Given the description of an element on the screen output the (x, y) to click on. 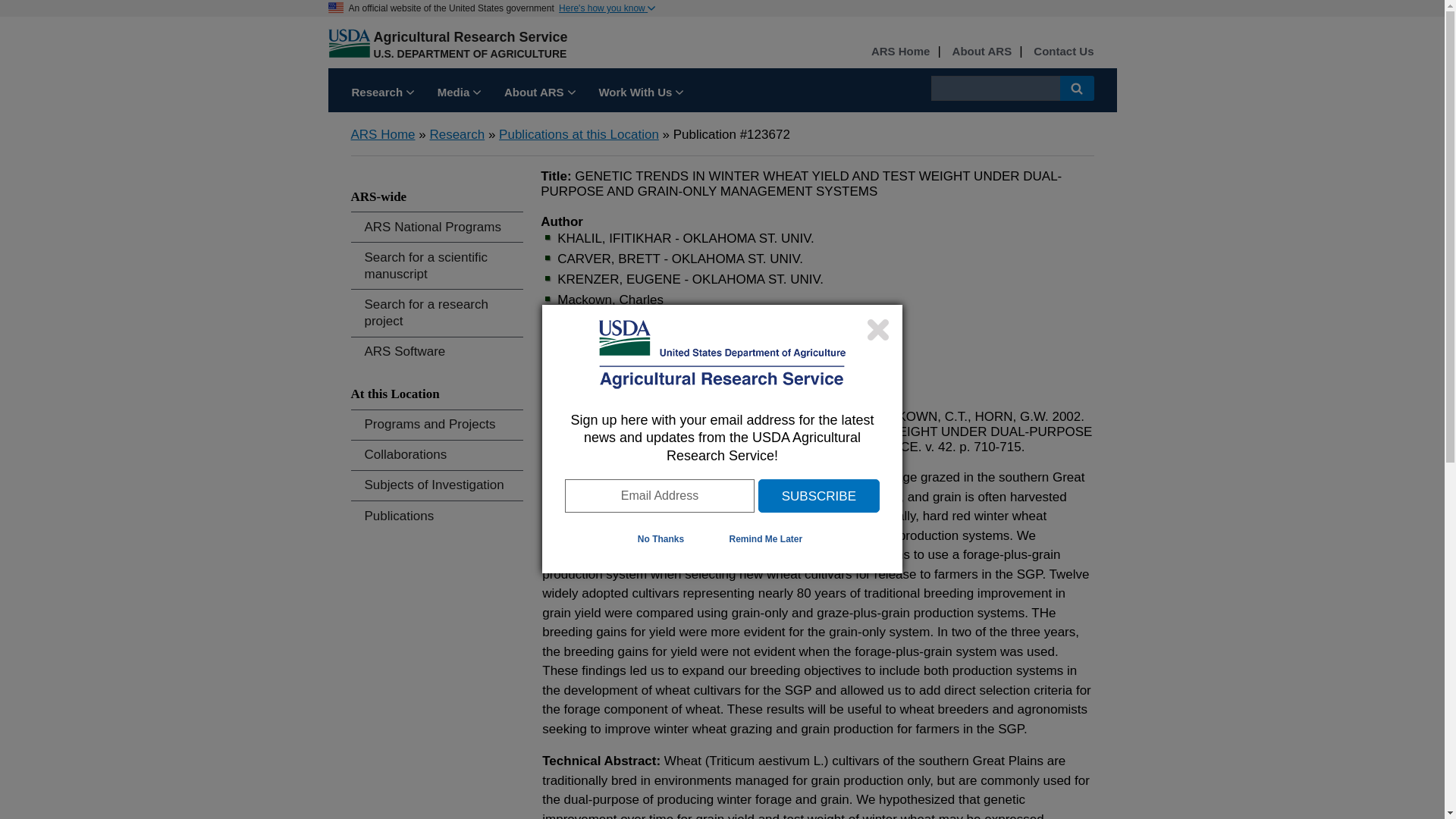
Agricultural Research Service Home (469, 37)
search (995, 88)
Media (459, 94)
ARS Home (900, 51)
Email Address (659, 495)
Work With Us (640, 94)
About ARS (539, 94)
Contact Us (1063, 51)
Agricultural Research Service (469, 37)
Close subscription dialog (877, 328)
About ARS (981, 51)
Subscribe (818, 495)
U.S. DEPARTMENT OF AGRICULTURE Home (469, 53)
Here's how you know (607, 8)
Research (382, 94)
